Given the description of an element on the screen output the (x, y) to click on. 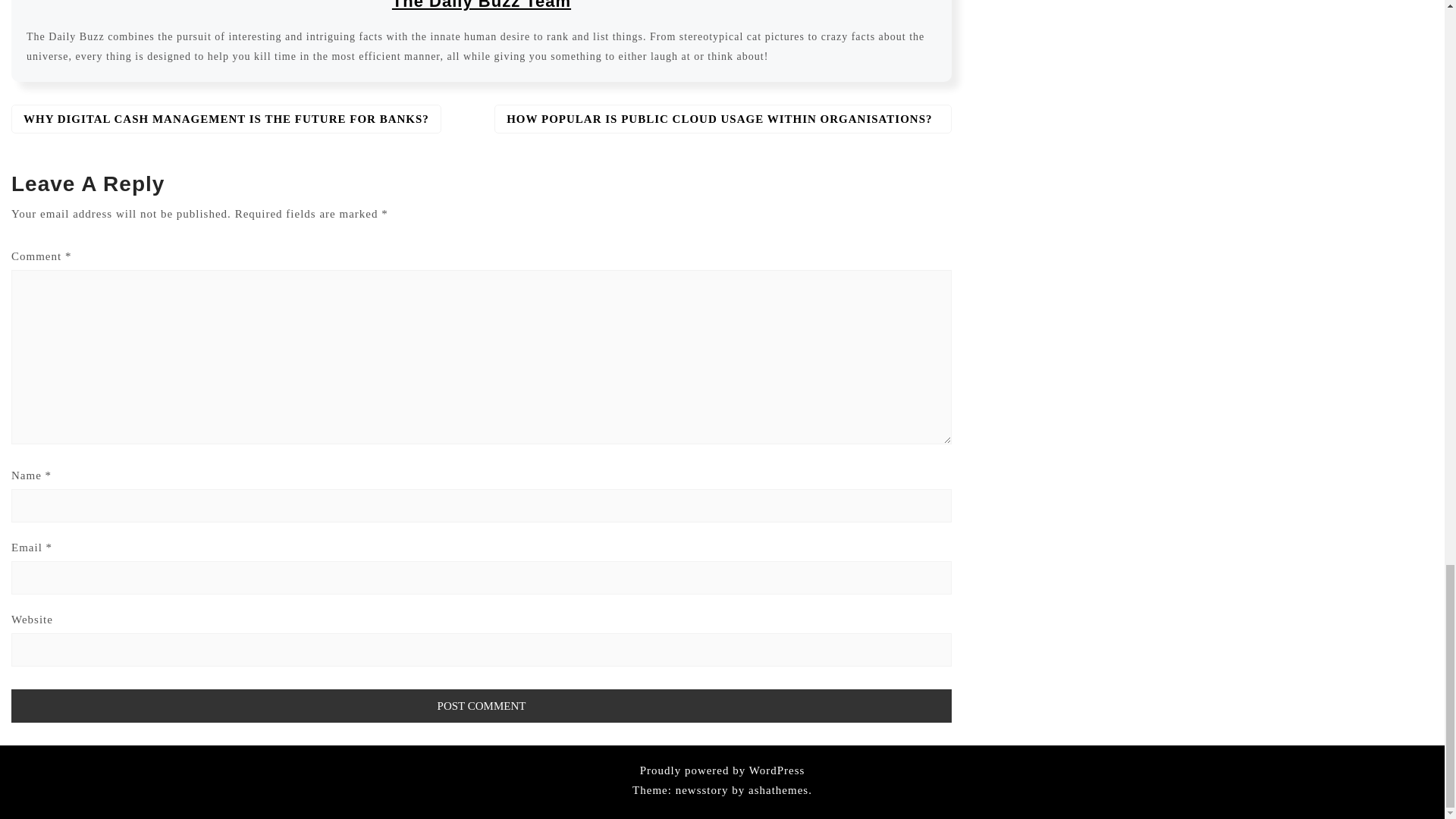
WHY DIGITAL CASH MANAGEMENT IS THE FUTURE FOR BANKS? (226, 118)
HOW POPULAR IS PUBLIC CLOUD USAGE WITHIN ORGANISATIONS?   (723, 118)
Post Comment (481, 705)
The Daily Buzz Team (480, 5)
Post Comment (481, 705)
